Given the description of an element on the screen output the (x, y) to click on. 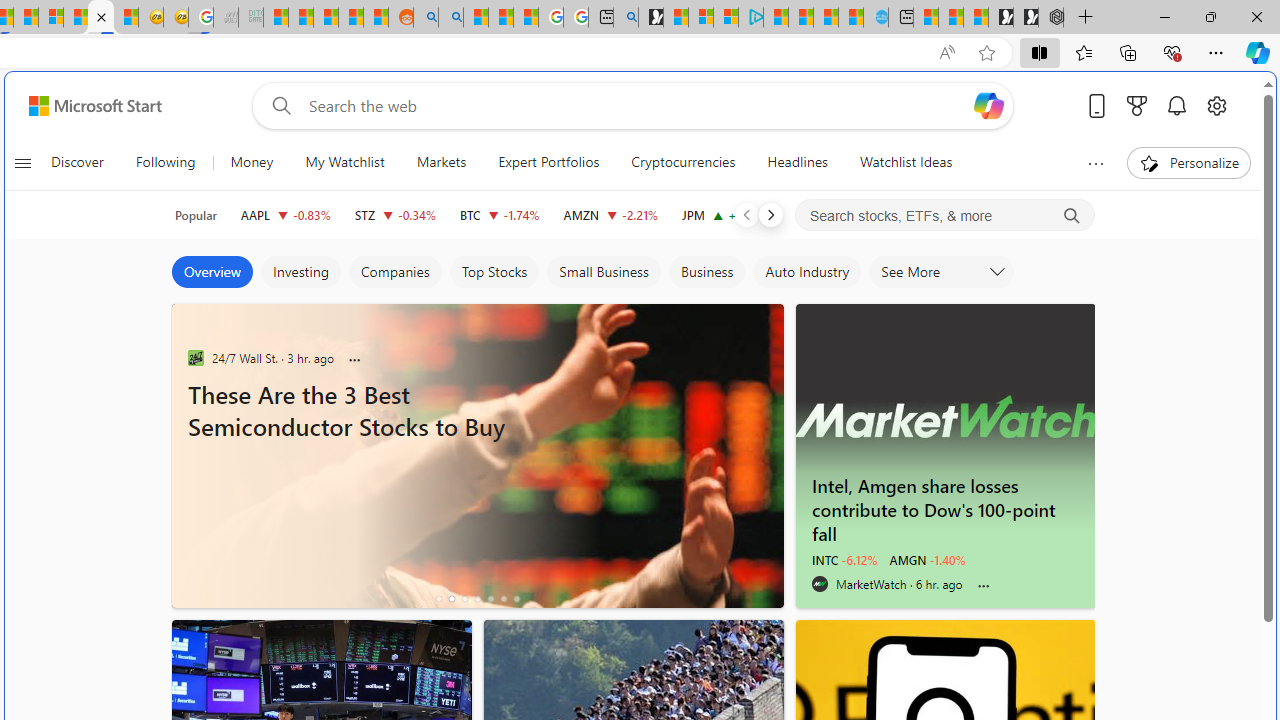
Watchlist Ideas (905, 162)
